Given the description of an element on the screen output the (x, y) to click on. 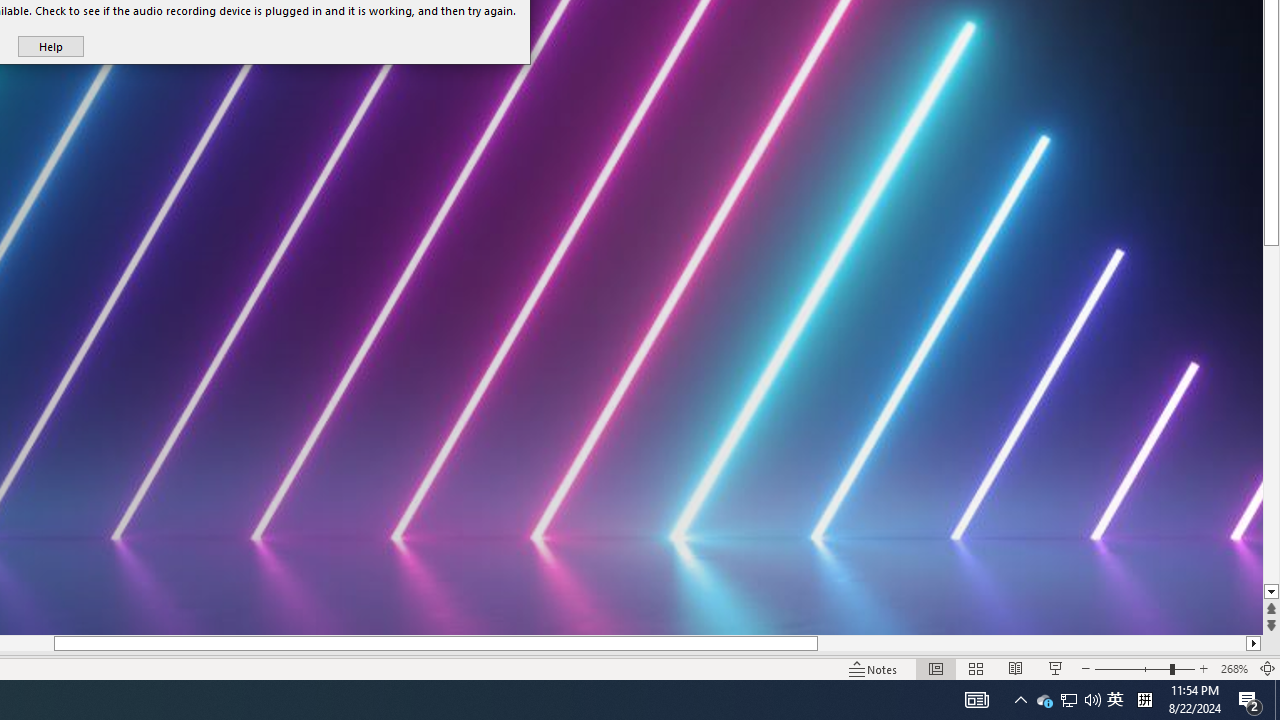
Zoom 268% (1234, 668)
